Given the description of an element on the screen output the (x, y) to click on. 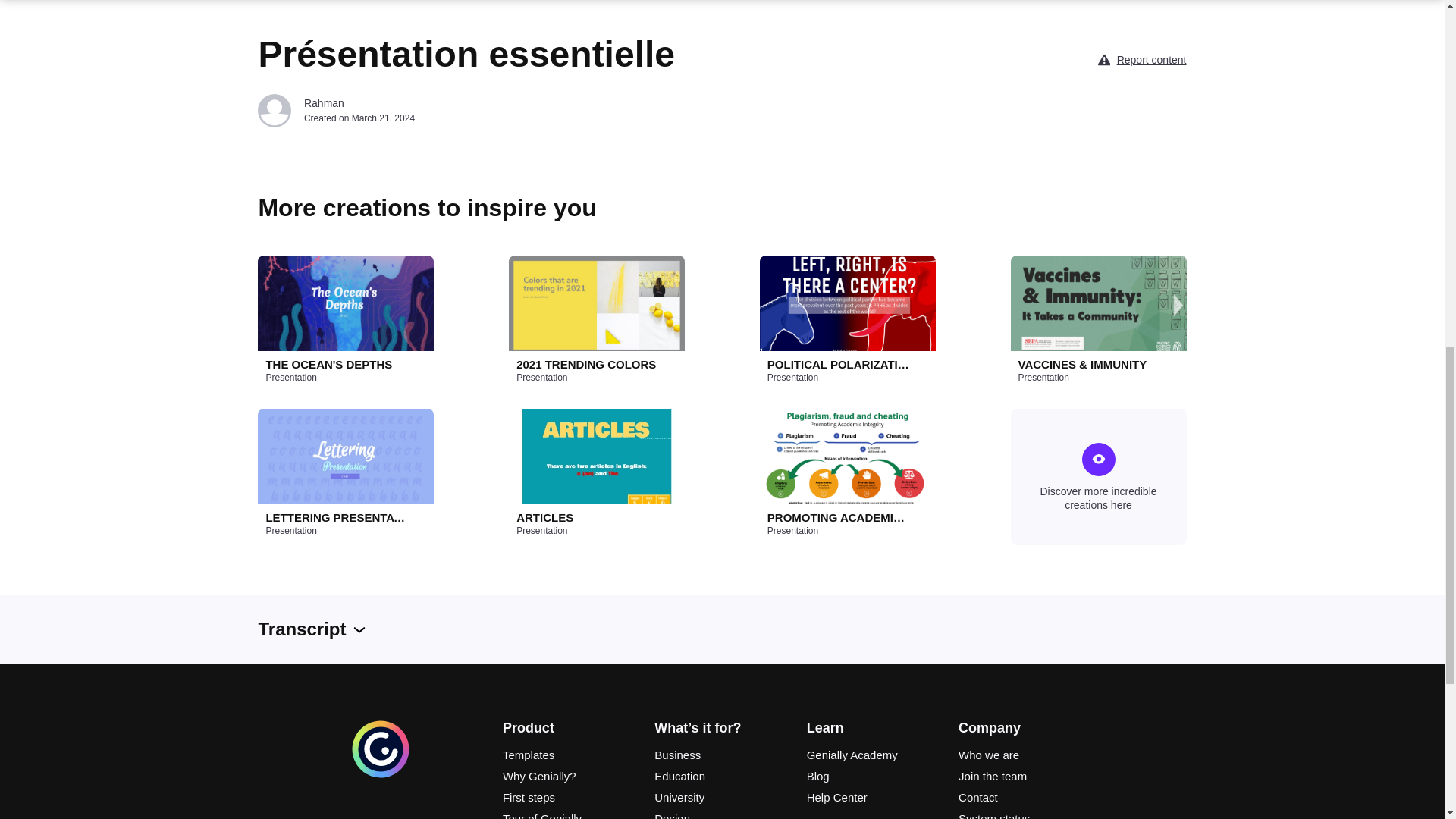
Business (721, 755)
LETTERING PRESENTATION (335, 517)
Discover more incredible creations here (1098, 476)
2021 TRENDING COLORS (587, 364)
THE OCEAN'S DEPTHS (335, 364)
First steps (569, 797)
Why Genially? (569, 776)
Report content (1151, 59)
PROMOTING ACADEMIC INTEGRITY (838, 517)
Tour of Genially (569, 814)
Genially home page (380, 775)
Templates (569, 755)
ARTICLES (587, 517)
POLITICAL POLARIZATION (838, 364)
